Given the description of an element on the screen output the (x, y) to click on. 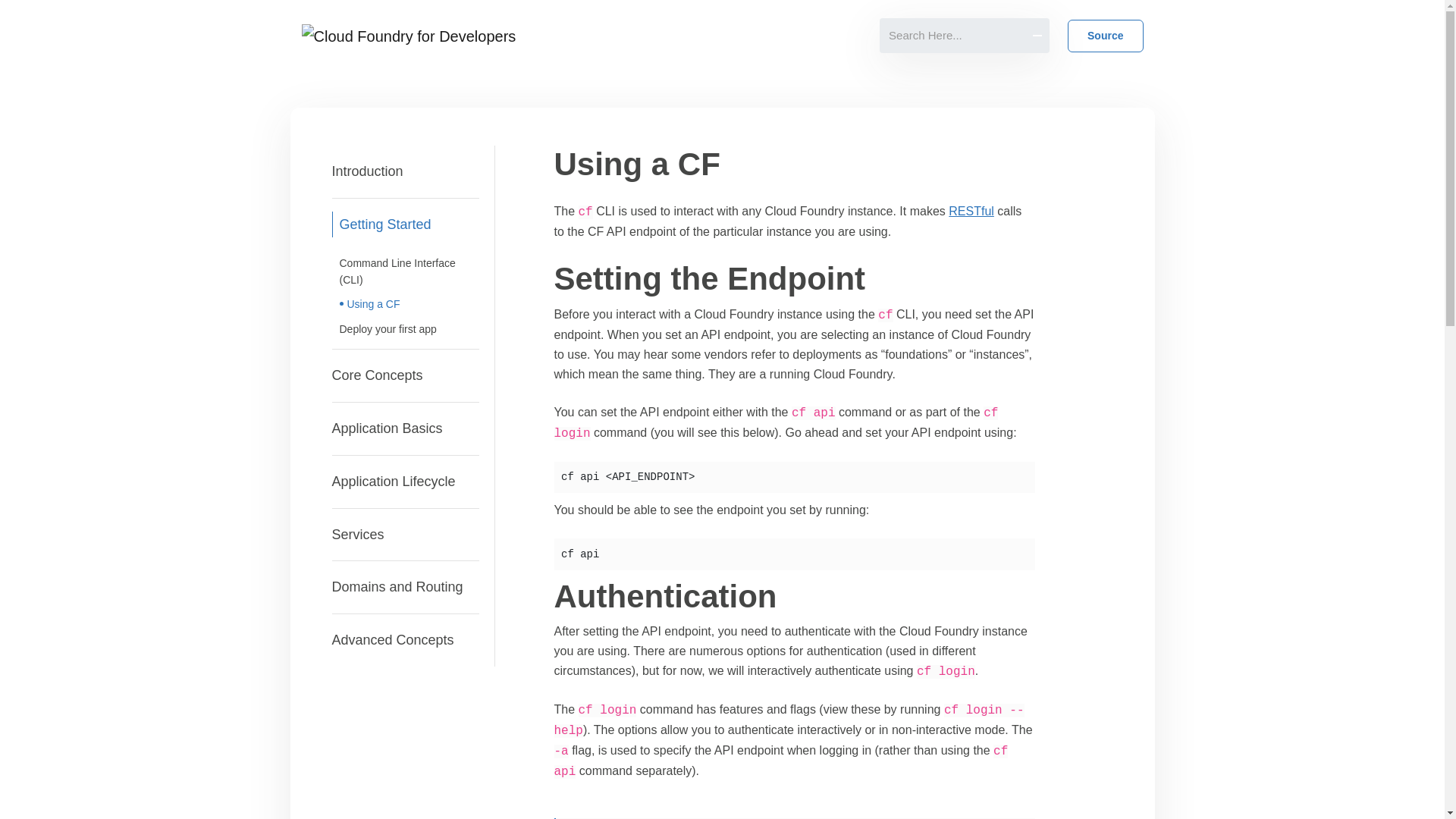
Getting Started (405, 274)
Application Basics (405, 428)
Using a CF (413, 303)
Core Concepts (405, 375)
Domains and Routing (405, 587)
Introduction (405, 171)
Using a CF (409, 303)
Application Lifecycle (405, 481)
Introduction (405, 172)
Source (1104, 35)
